Given the description of an element on the screen output the (x, y) to click on. 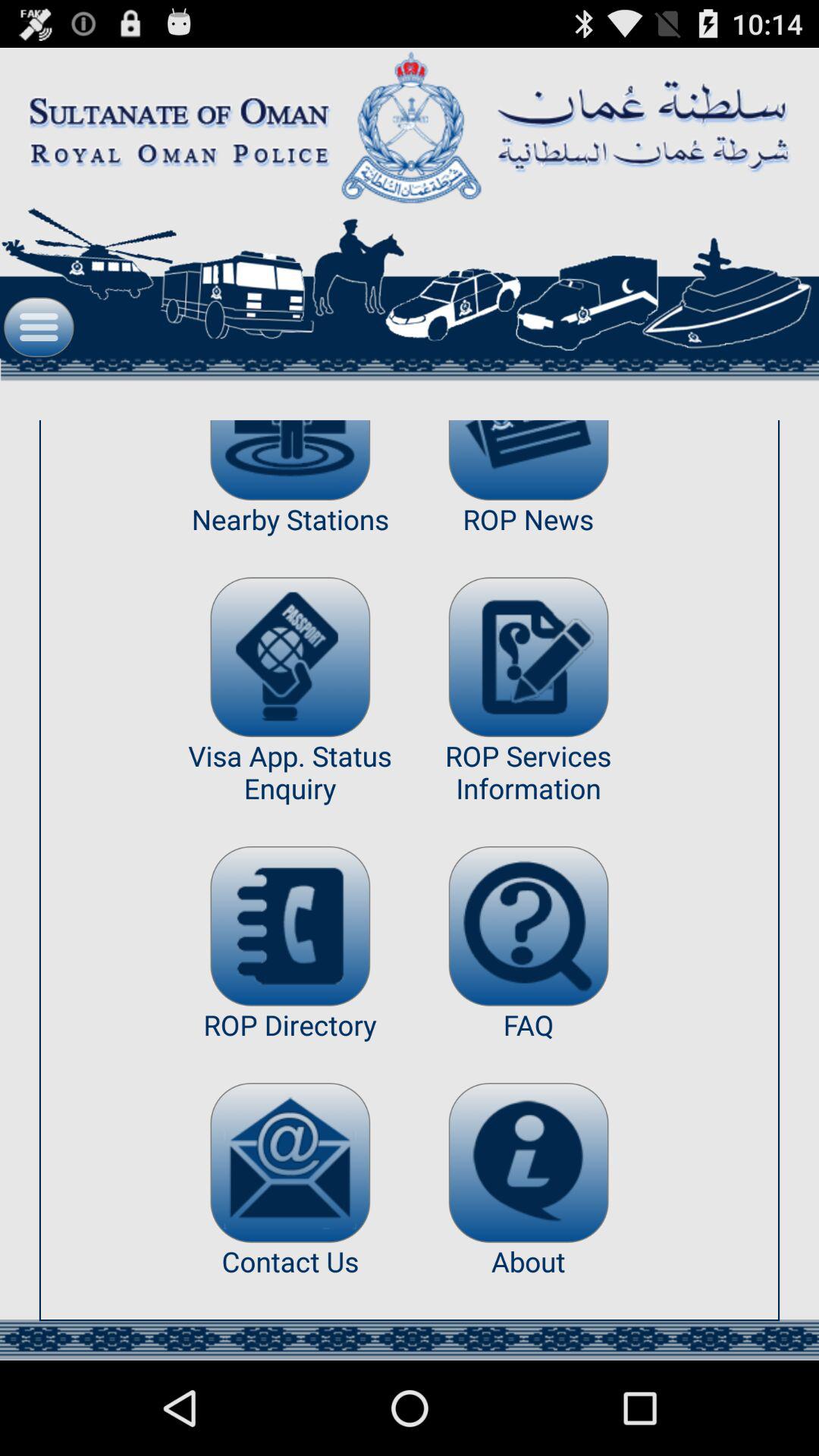
press the app next to the rop news item (290, 657)
